Given the description of an element on the screen output the (x, y) to click on. 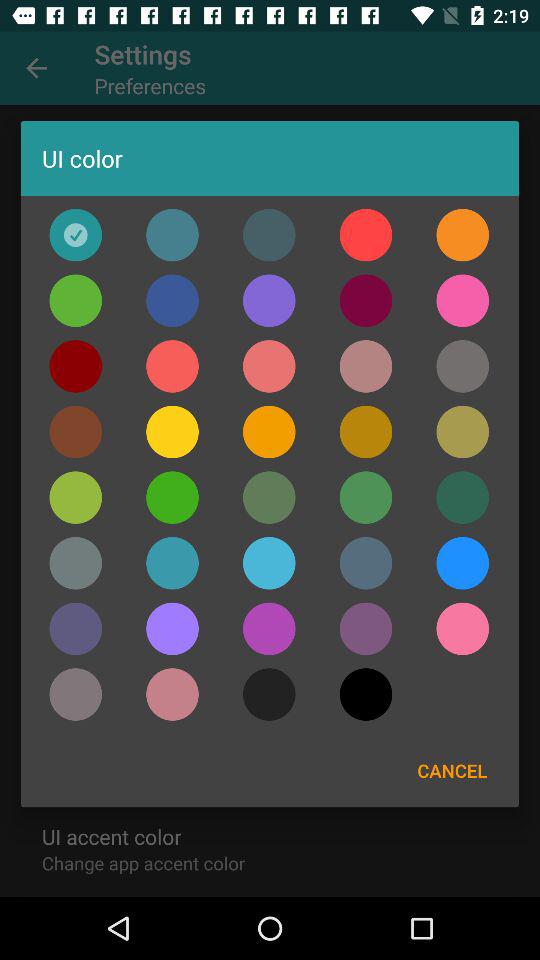
go to ui color (365, 431)
